Given the description of an element on the screen output the (x, y) to click on. 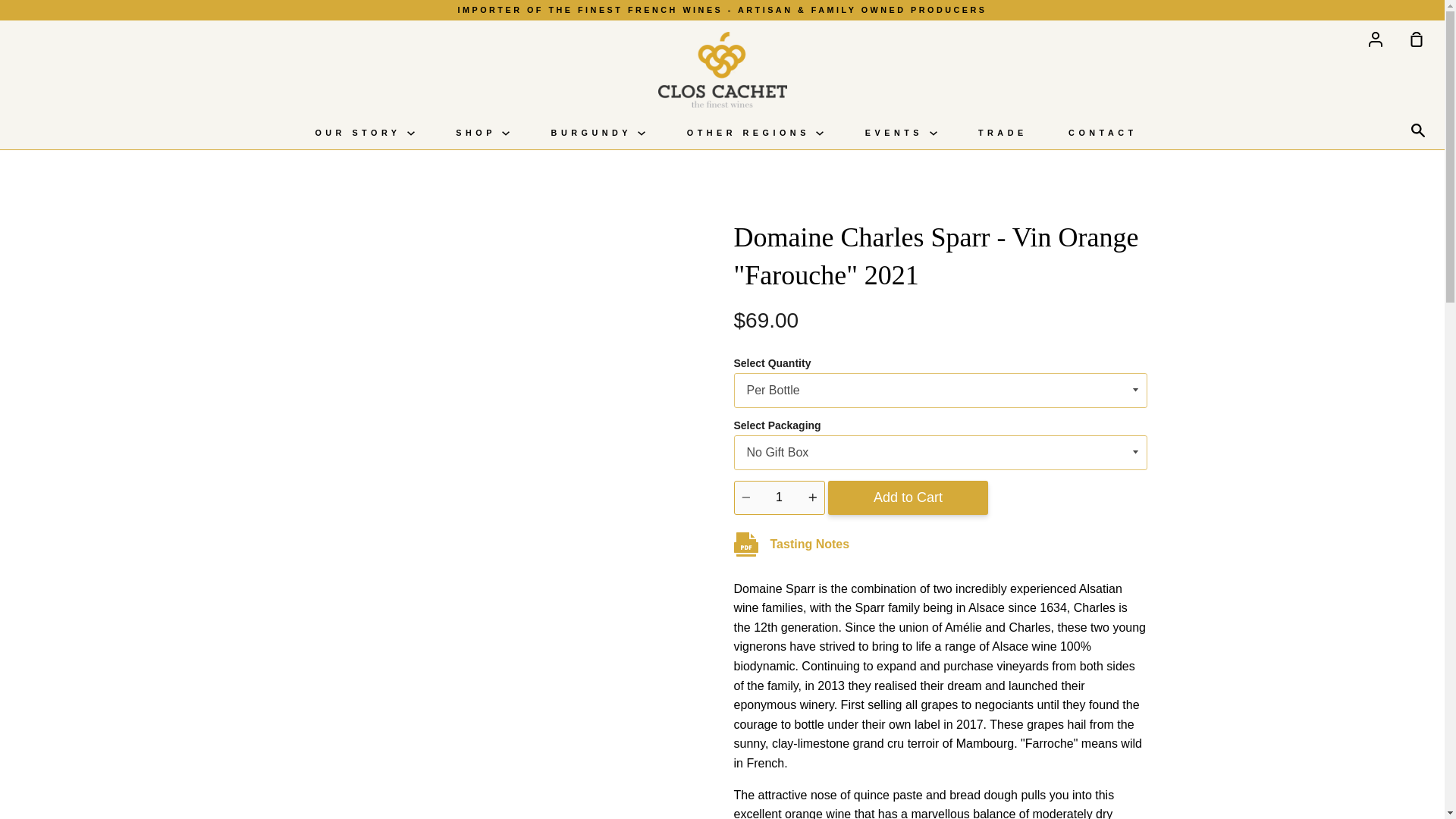
OUR STORY (364, 132)
Account (1375, 39)
SHOP (482, 132)
BURGUNDY (598, 132)
1 (779, 497)
